Given the description of an element on the screen output the (x, y) to click on. 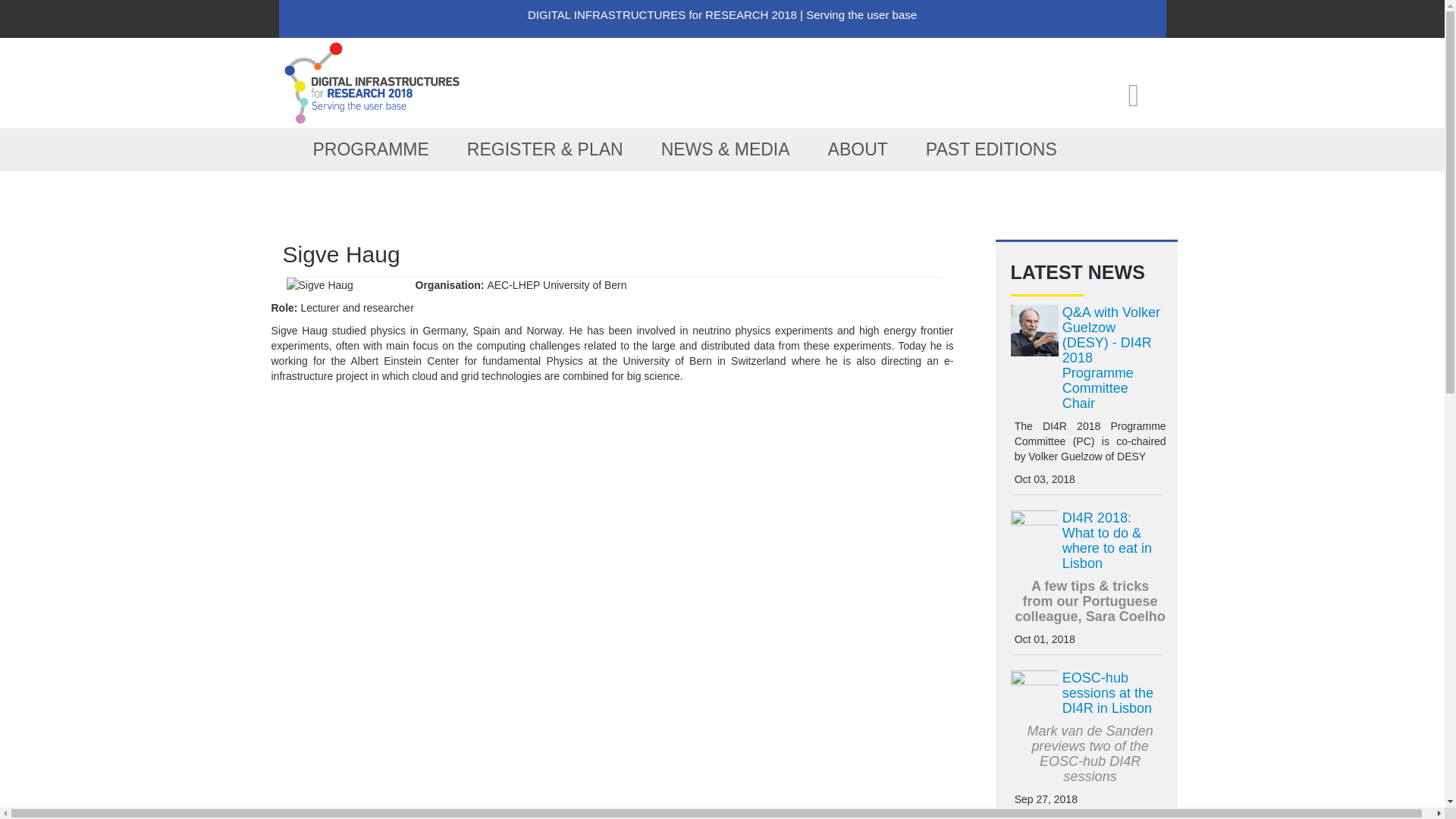
Programme (371, 149)
PROGRAMME (371, 149)
Home (373, 81)
PAST EDITIONS (991, 149)
EOSC-hub sessions at the DI4R in Lisbon (1107, 692)
ABOUT (858, 149)
